Given the description of an element on the screen output the (x, y) to click on. 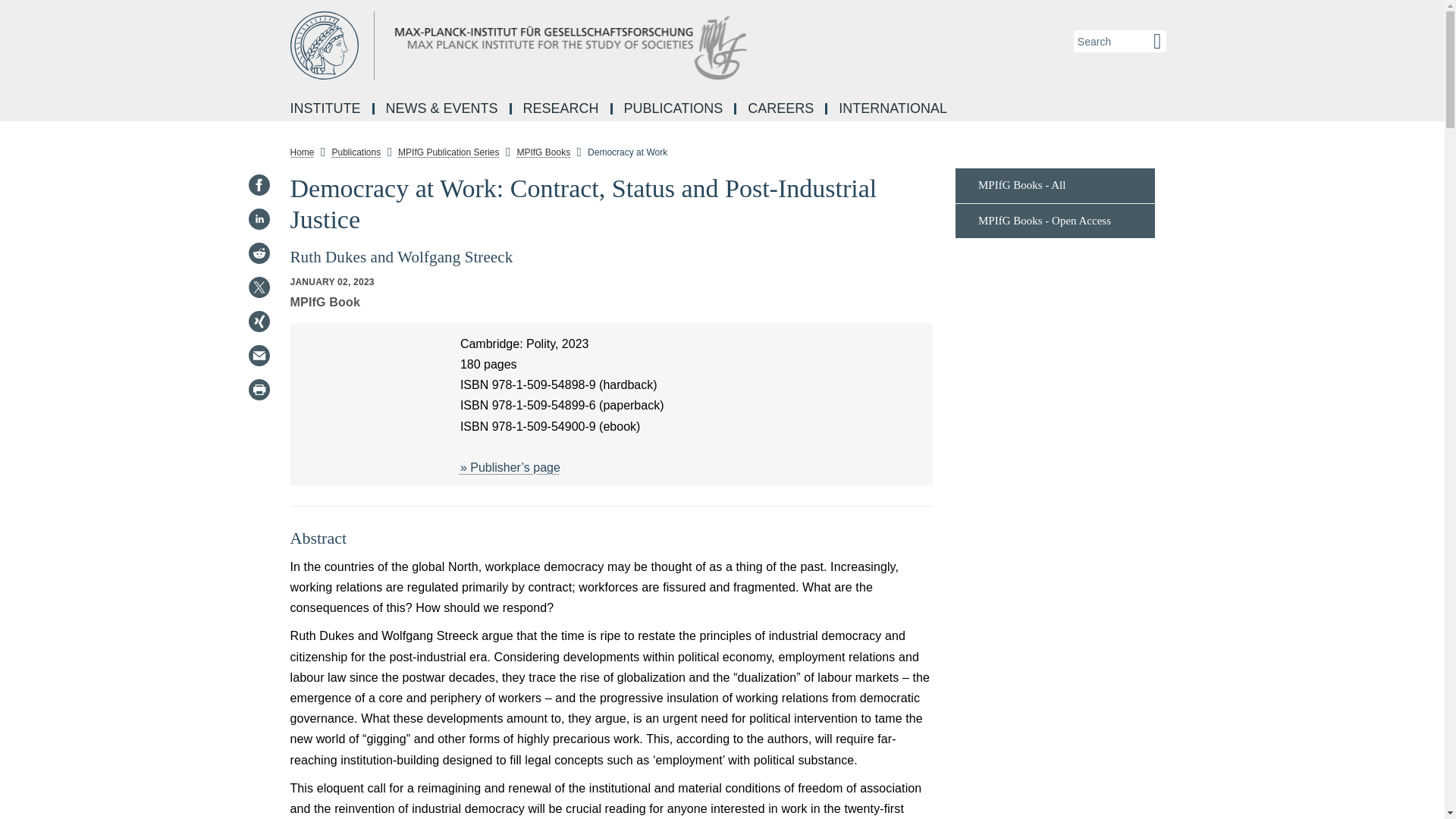
Xing (258, 321)
Twitter (258, 287)
Print (258, 389)
LinkedIn (258, 219)
Facebook (258, 184)
Reddit (258, 252)
E-Mail (258, 354)
INSTITUTE (326, 108)
RESEARCH (562, 108)
